Given the description of an element on the screen output the (x, y) to click on. 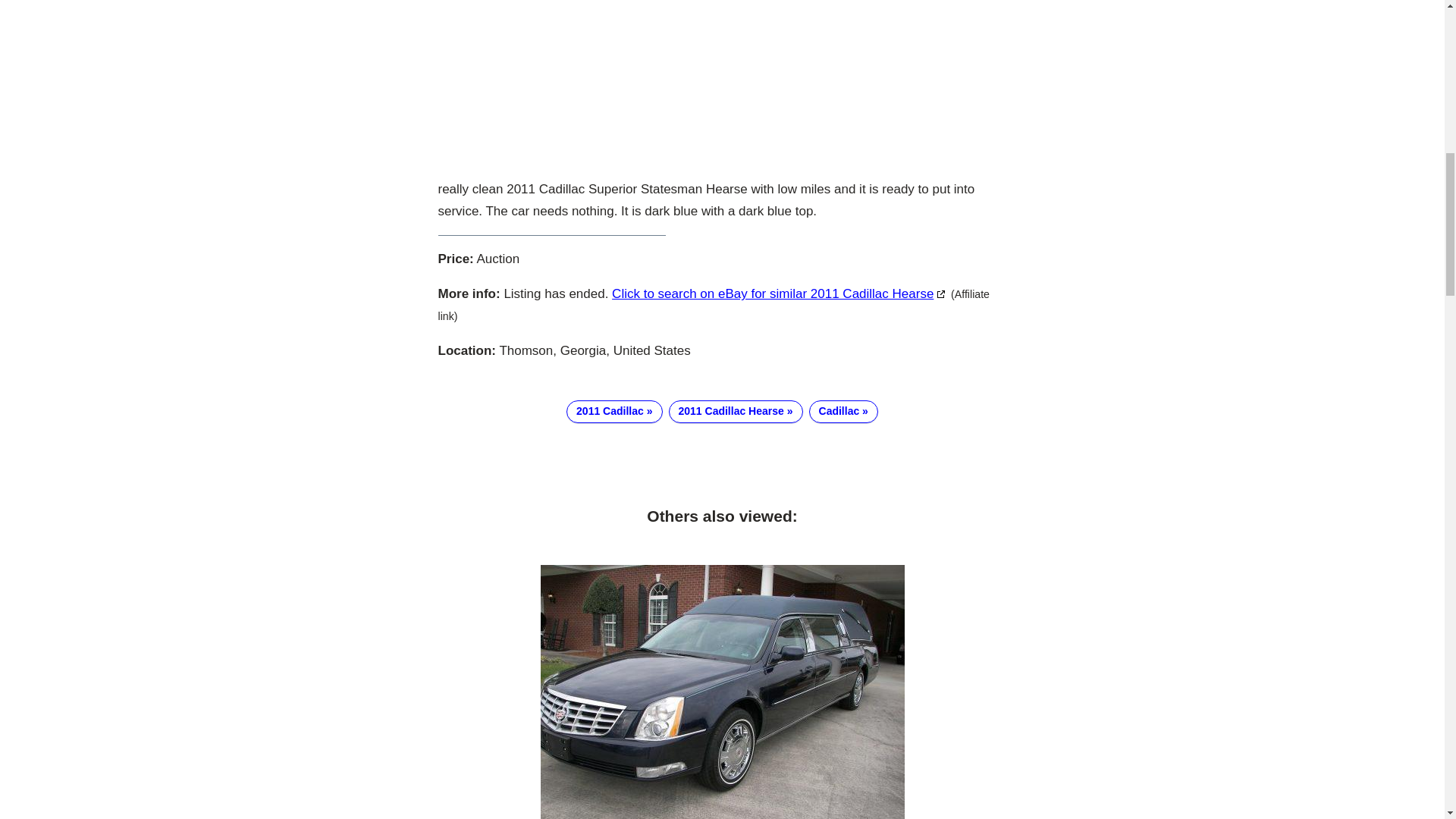
2011 Cadillac (614, 411)
Cadillac (843, 411)
Click to search on eBay for similar 2011 Cadillac Hearse (779, 293)
Advertisement (722, 83)
2011 Cadillac Hearse (735, 411)
